Given the description of an element on the screen output the (x, y) to click on. 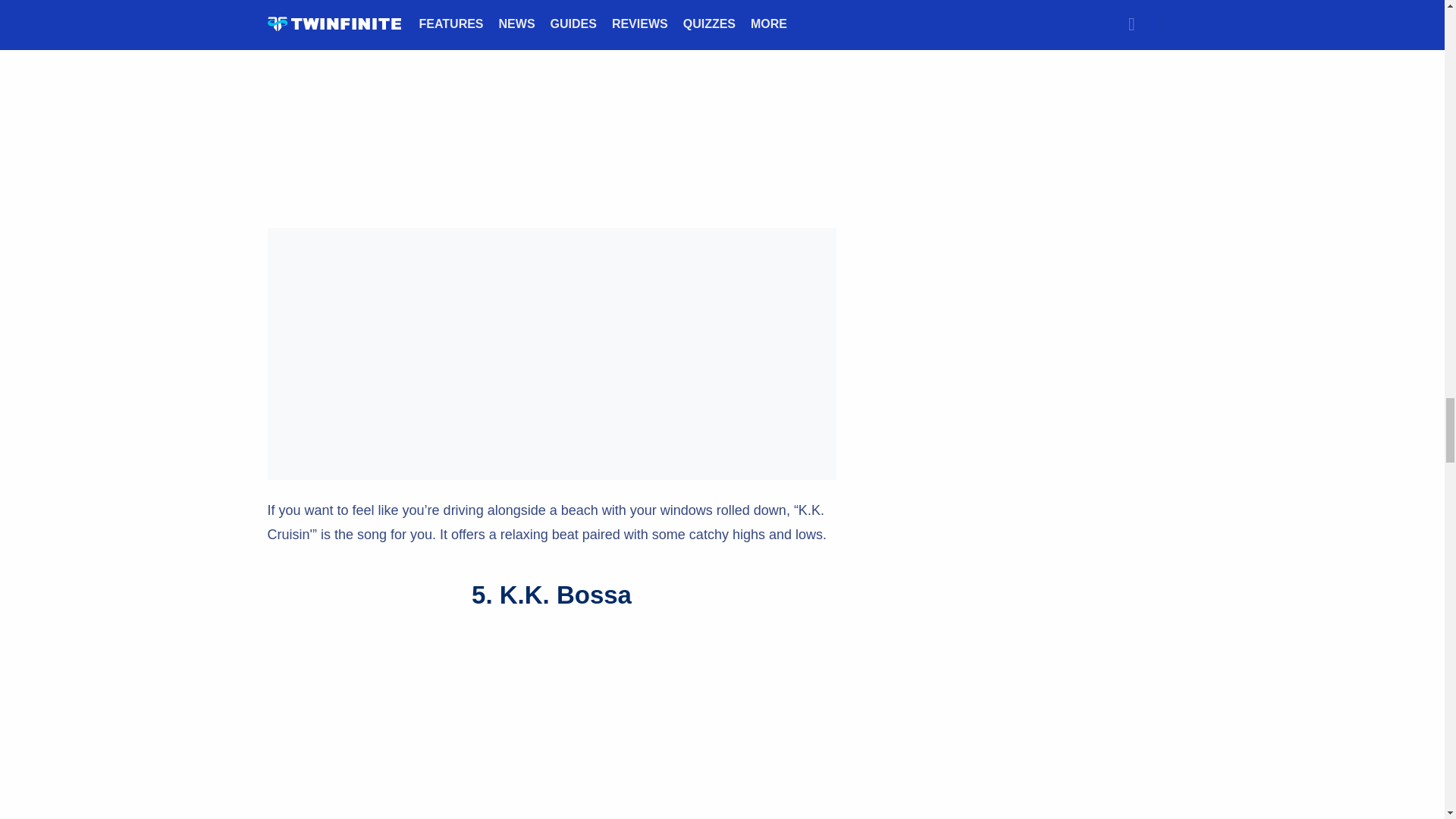
K.K. Bossa - K.K. Slider (550, 724)
K.K. Cruisin' - K.K. Slider (550, 104)
